Given the description of an element on the screen output the (x, y) to click on. 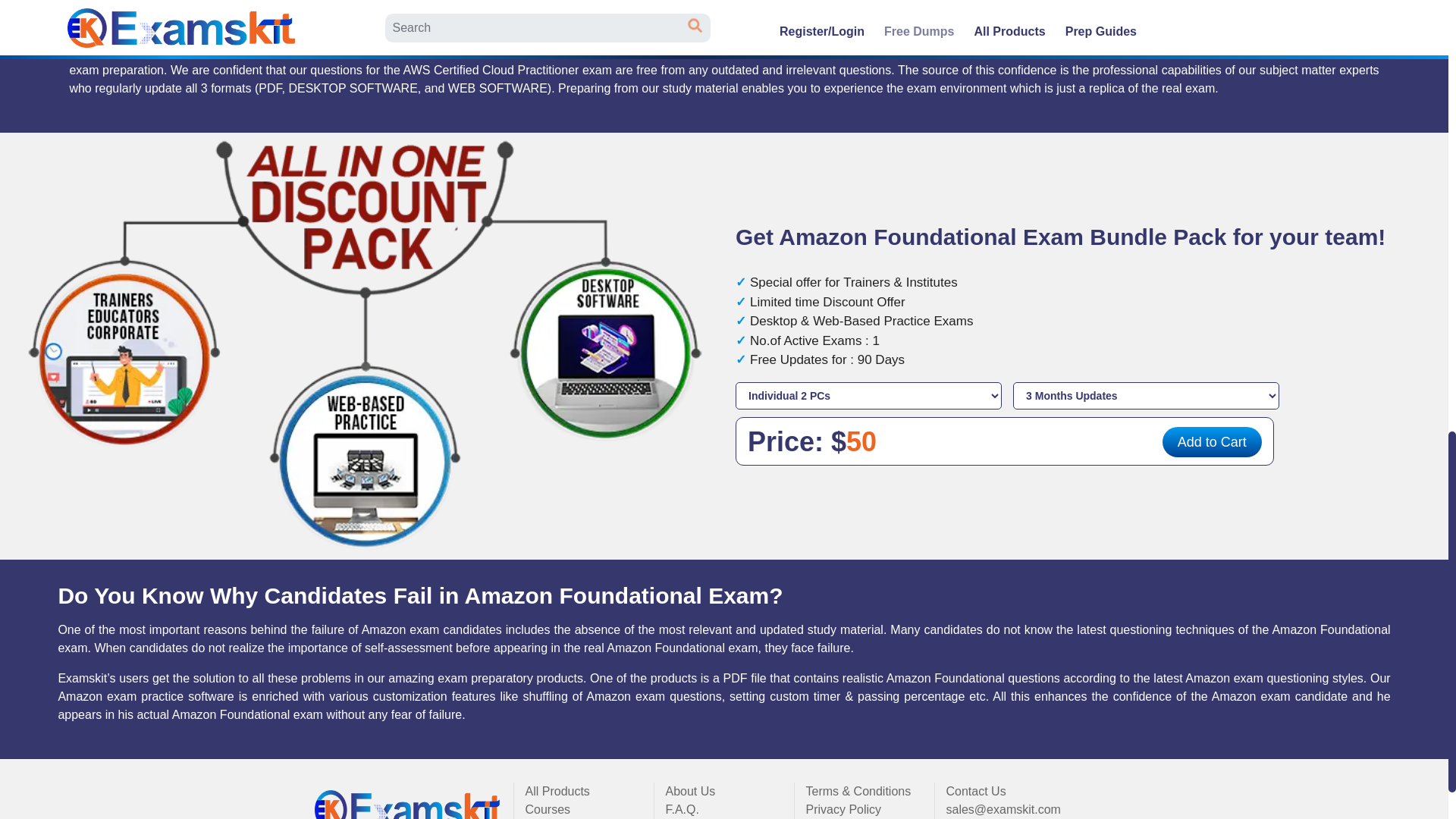
Certification Questions (408, 805)
